Given the description of an element on the screen output the (x, y) to click on. 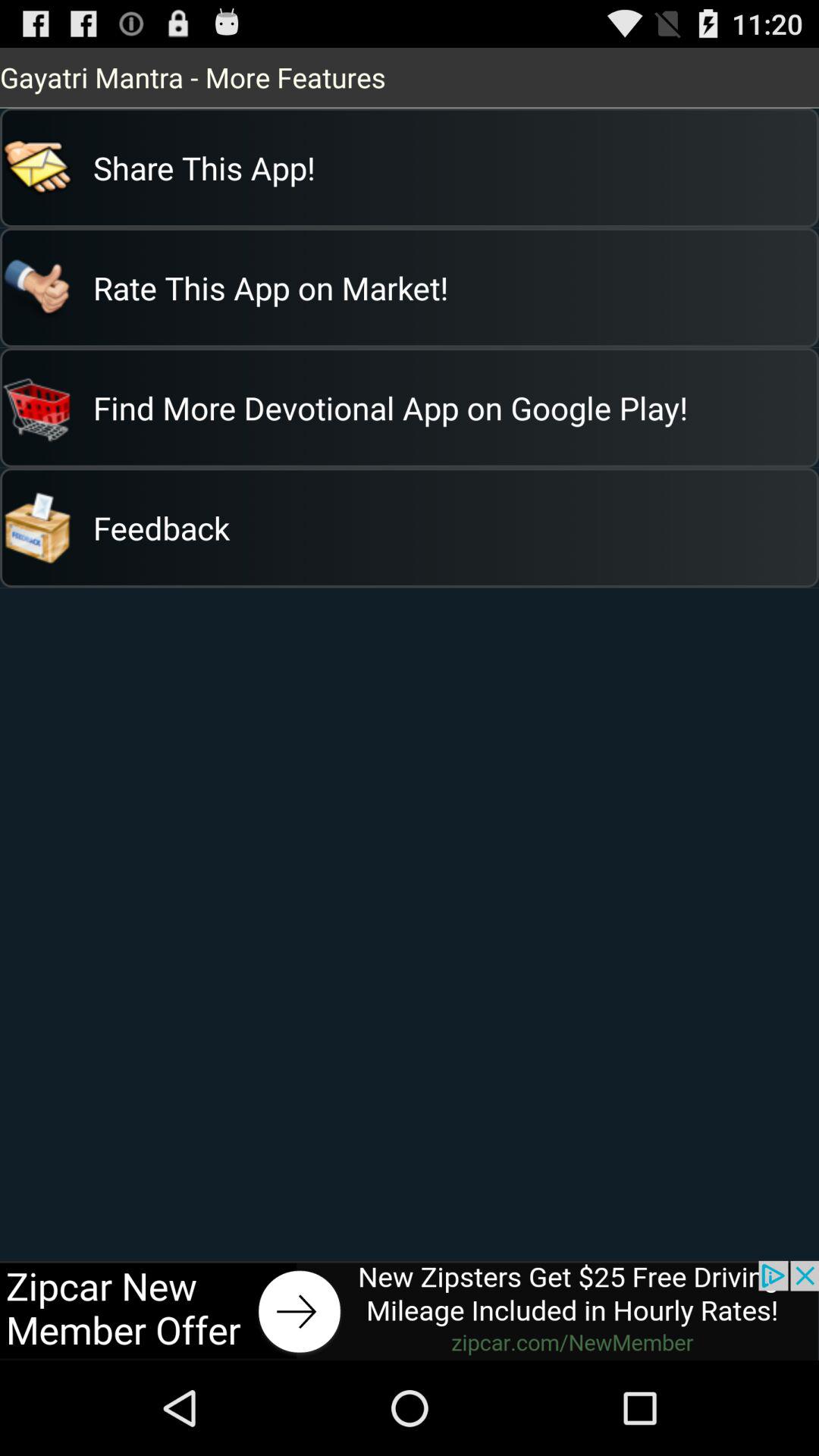
go to next (409, 1310)
